Given the description of an element on the screen output the (x, y) to click on. 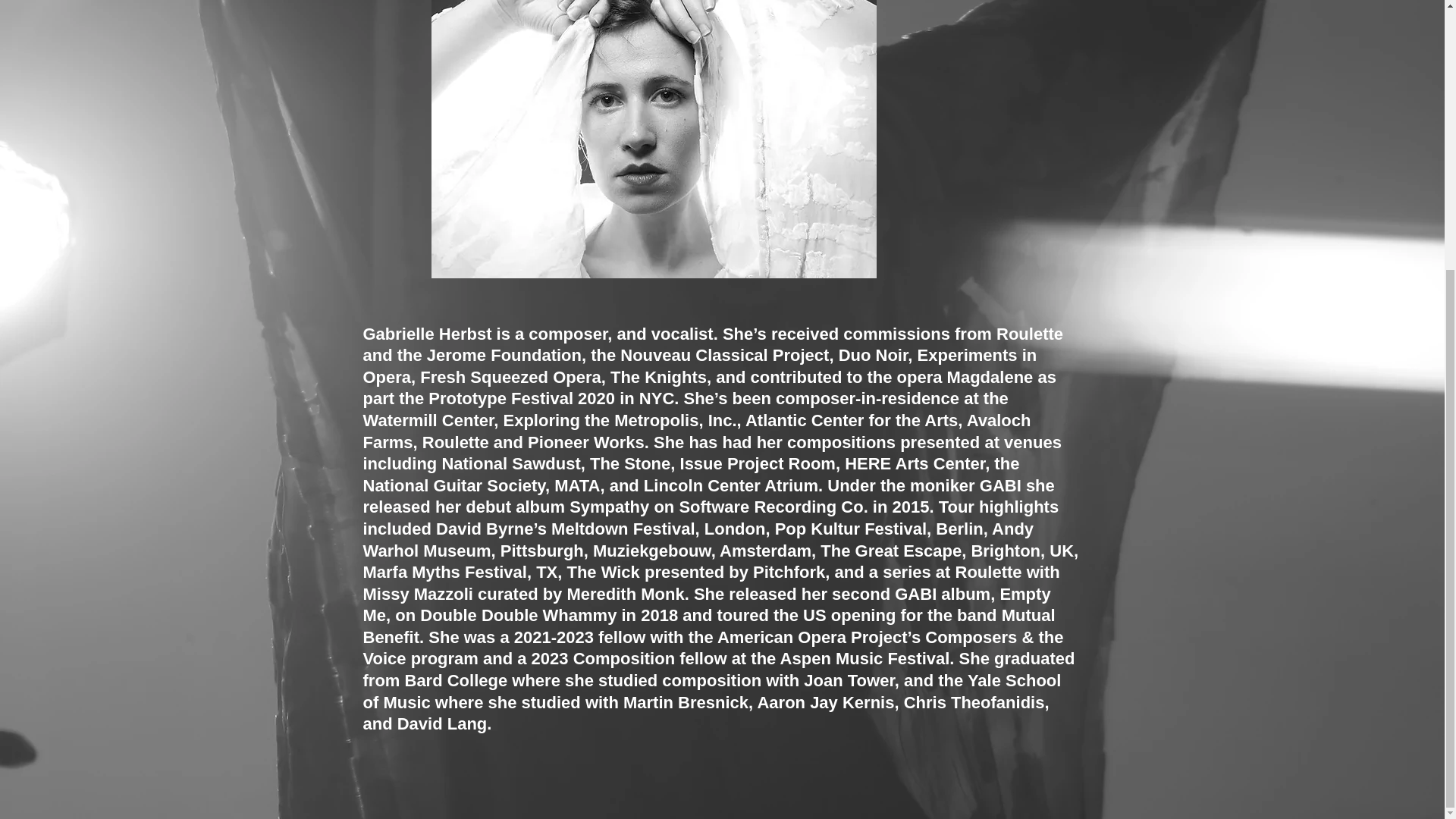
GABI.jpg (653, 139)
